Given the description of an element on the screen output the (x, y) to click on. 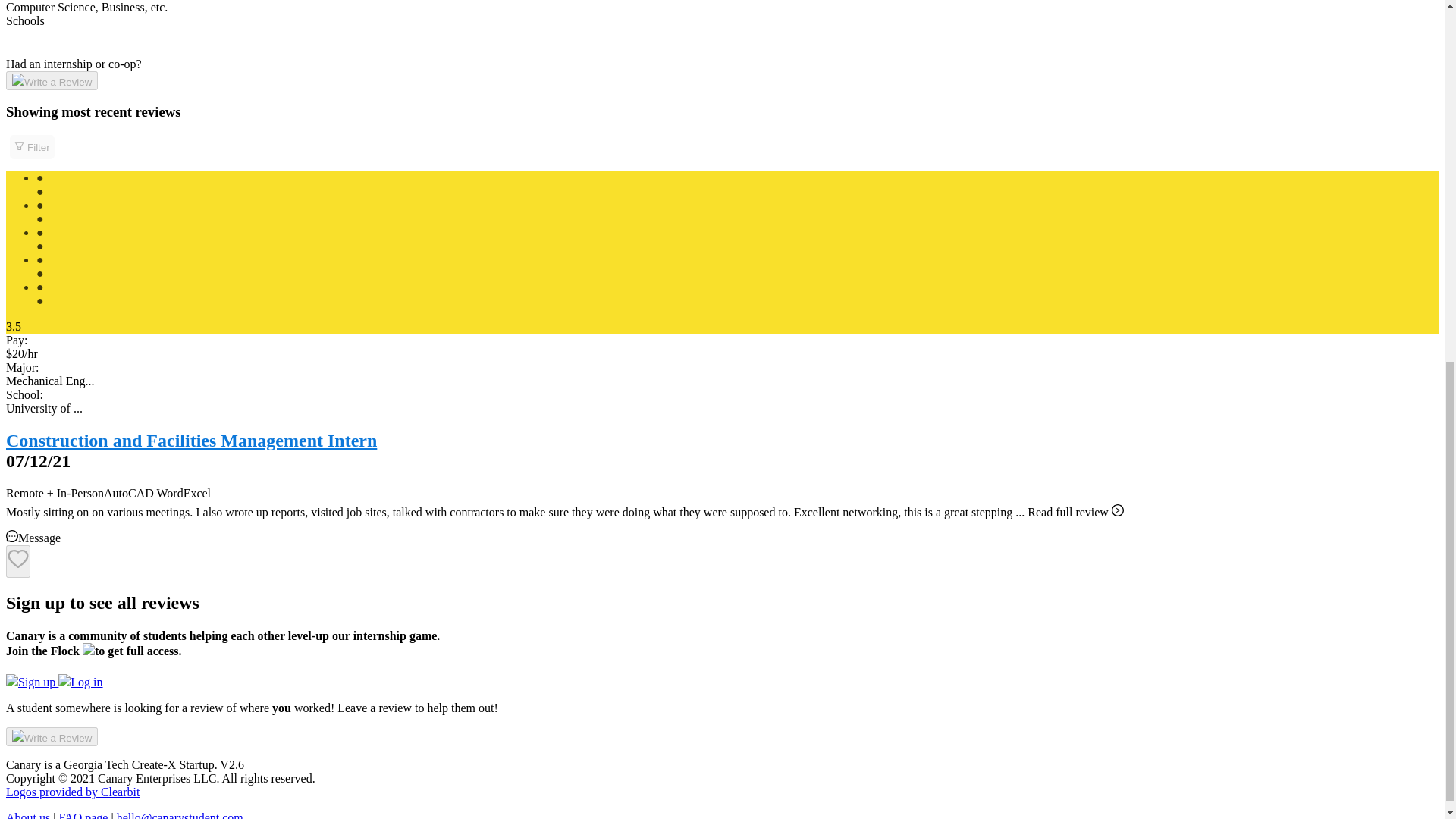
Construction and Facilities Management Intern (191, 440)
Sign up (31, 681)
Log in (79, 681)
Schools (25, 20)
Write a Review (51, 80)
Write a Review (51, 736)
Logos provided by Clearbit (72, 791)
Filter (32, 146)
Read full review (1075, 512)
